Given the description of an element on the screen output the (x, y) to click on. 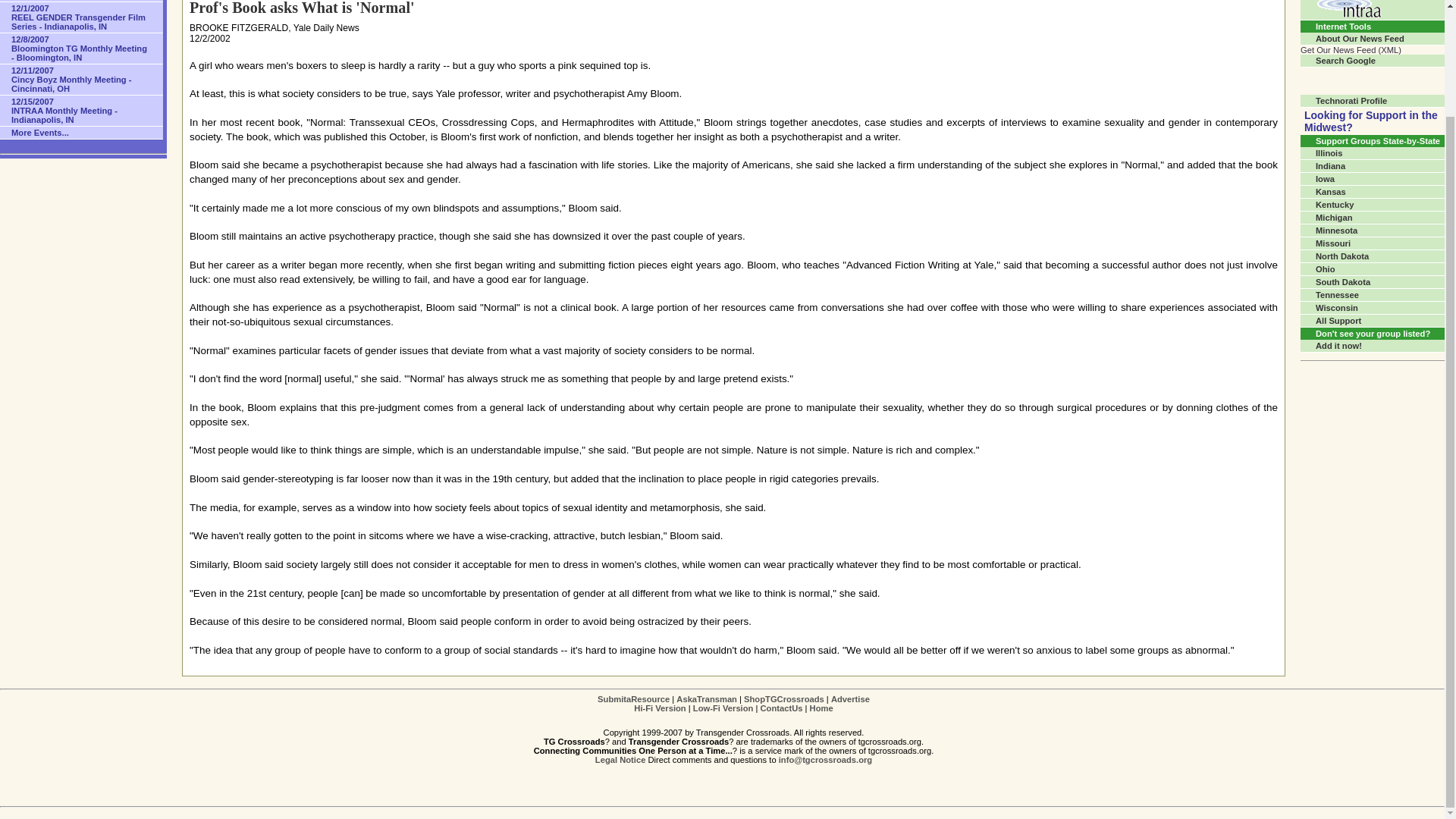
More Events... (81, 132)
Send Us Mail (825, 759)
ContactUs (781, 707)
Apply Stylesheet (659, 707)
ShopTGCrossroads (784, 698)
Advertise (850, 698)
Read Copyright Info (620, 759)
AskaTransman (706, 698)
Hi-Fi Version (659, 707)
Ask a Transman (706, 698)
